Given the description of an element on the screen output the (x, y) to click on. 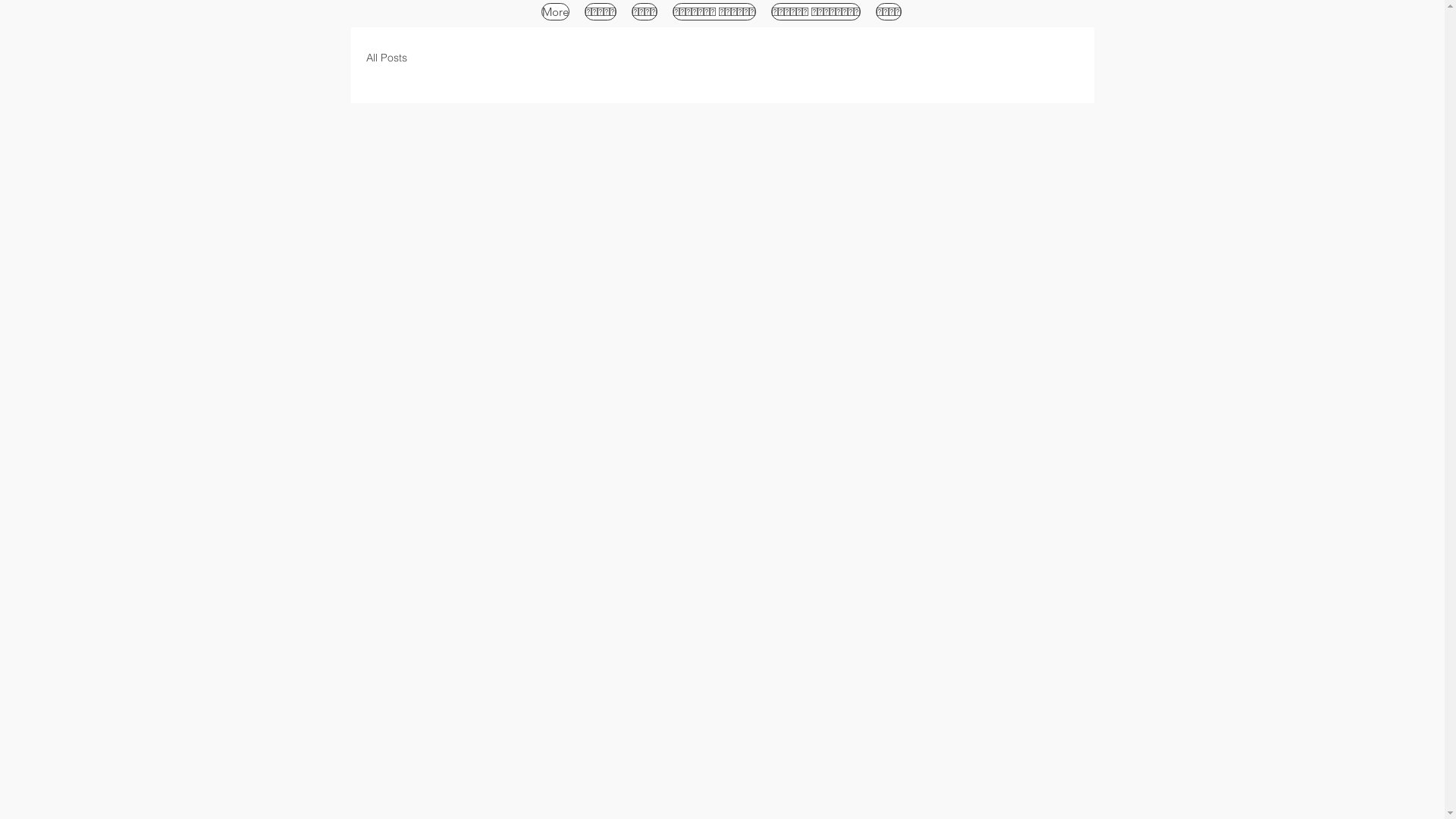
All Posts Element type: text (385, 57)
